Given the description of an element on the screen output the (x, y) to click on. 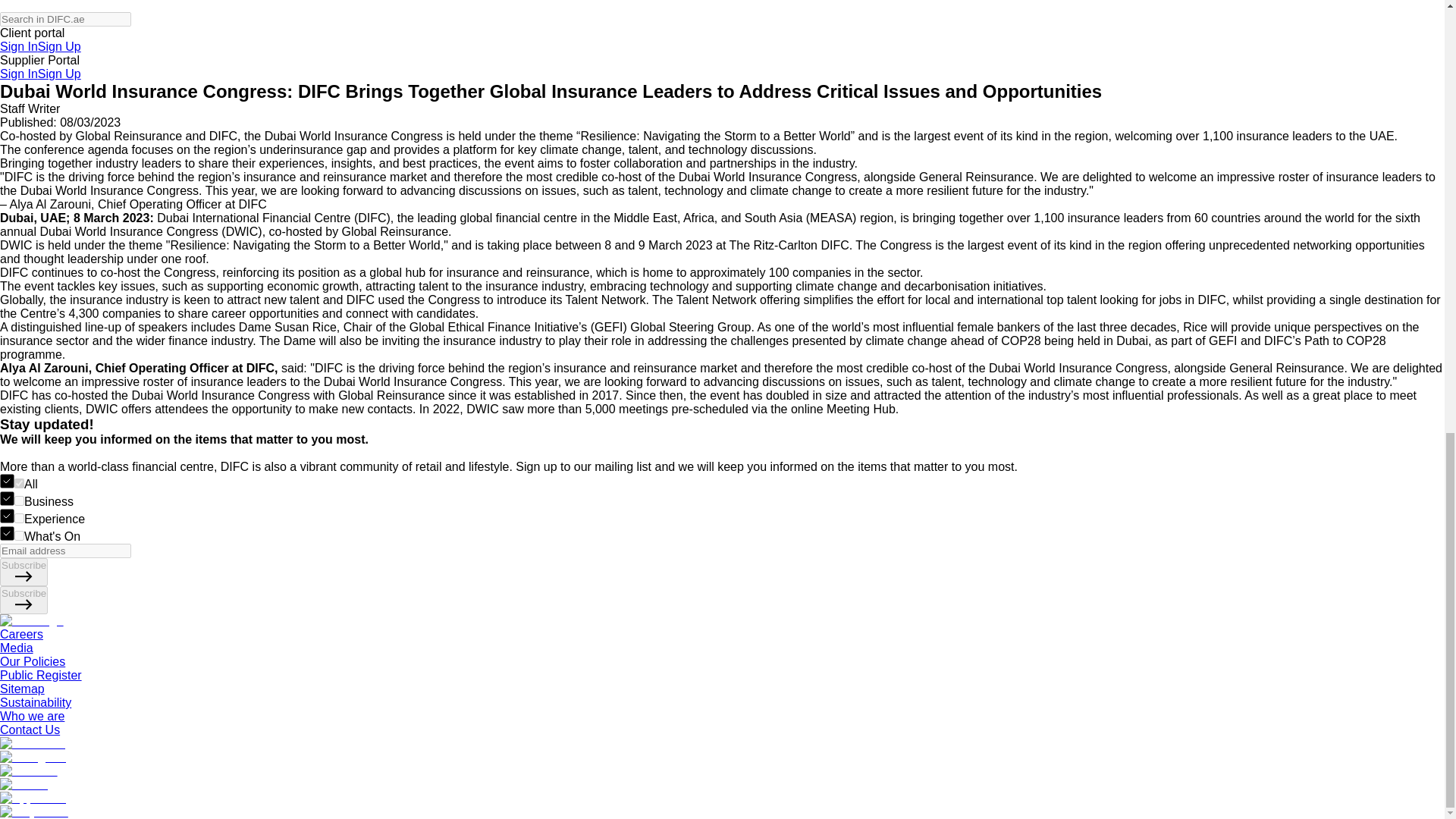
Business (19, 501)
All (19, 483)
Experience (19, 518)
WhatsOn (19, 535)
